Given the description of an element on the screen output the (x, y) to click on. 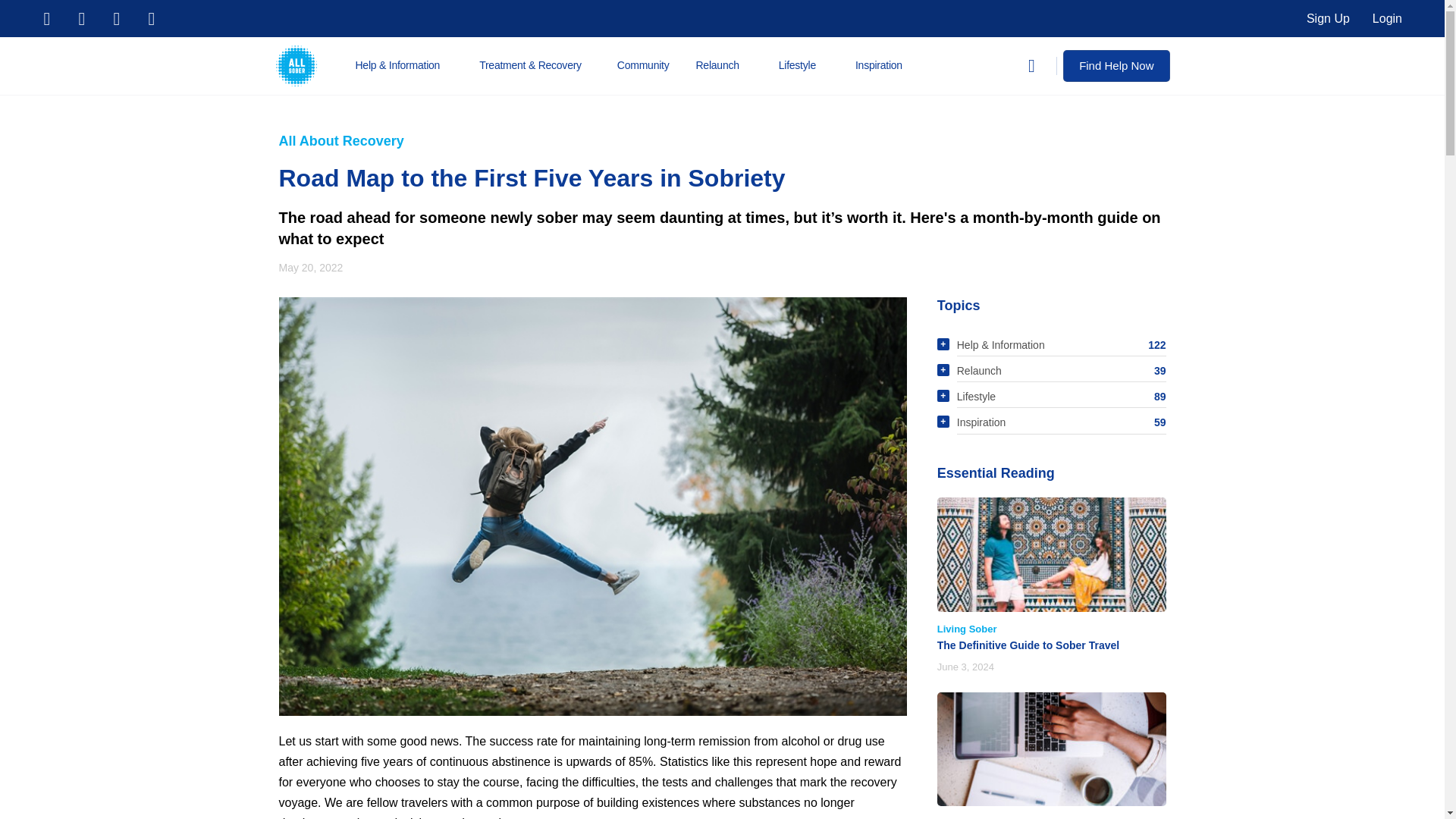
Ready to work from home - All Sober (1051, 749)
Lifestyle (803, 65)
Inspiration (885, 65)
Sober travel together - All Sober (1051, 554)
Community (643, 65)
Sign Up (1328, 18)
Login (1387, 18)
Relaunch (724, 65)
